Given the description of an element on the screen output the (x, y) to click on. 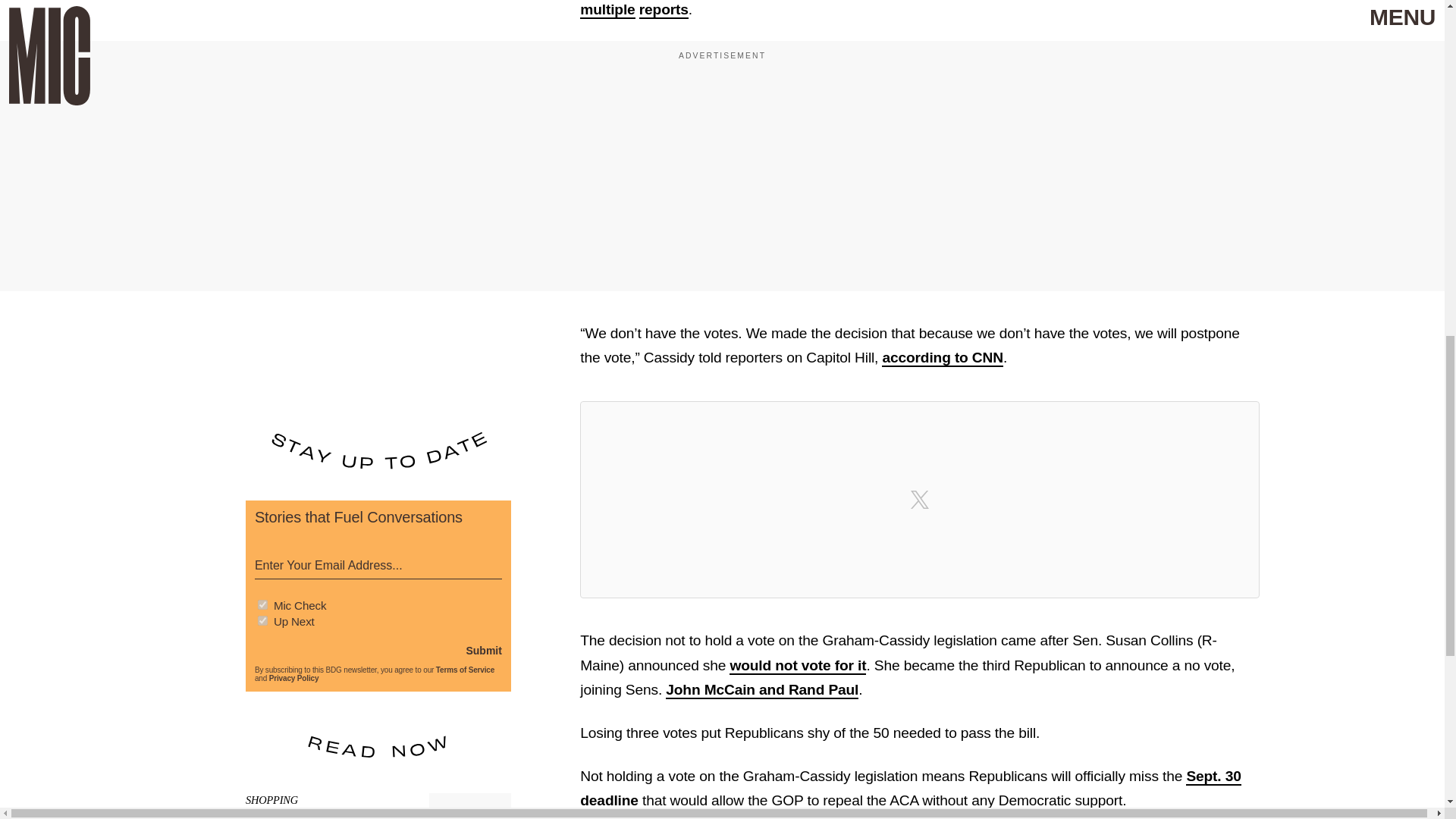
Terms of Service (465, 669)
Privacy Policy (293, 678)
Submit (482, 650)
Sept. 30 deadline (909, 789)
John McCain and Rand Paul (762, 690)
reports (663, 9)
multiple (606, 9)
would not vote for it (797, 665)
according to CNN (942, 357)
